Given the description of an element on the screen output the (x, y) to click on. 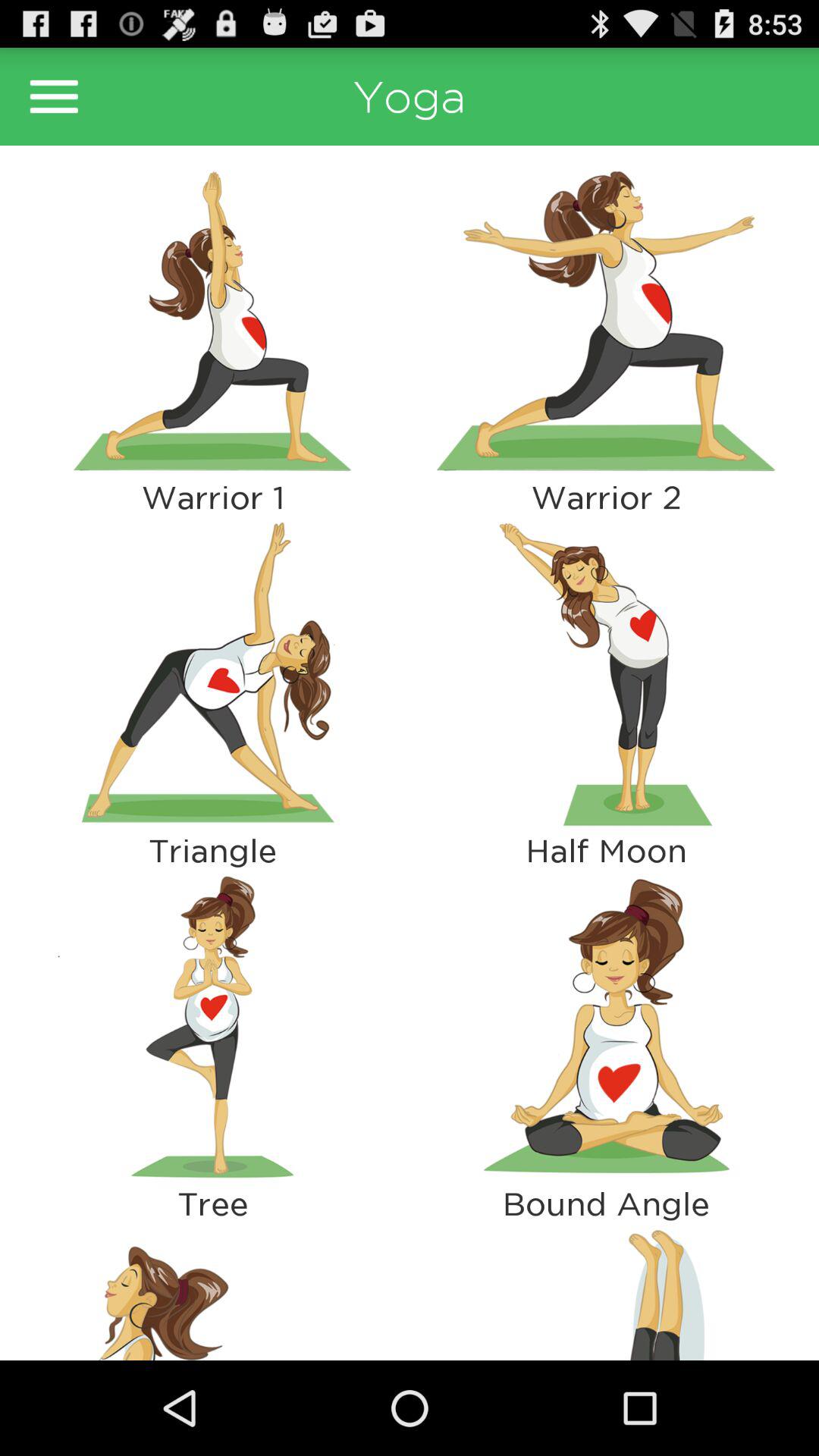
choose the icon above the triangle icon (212, 673)
